Given the description of an element on the screen output the (x, y) to click on. 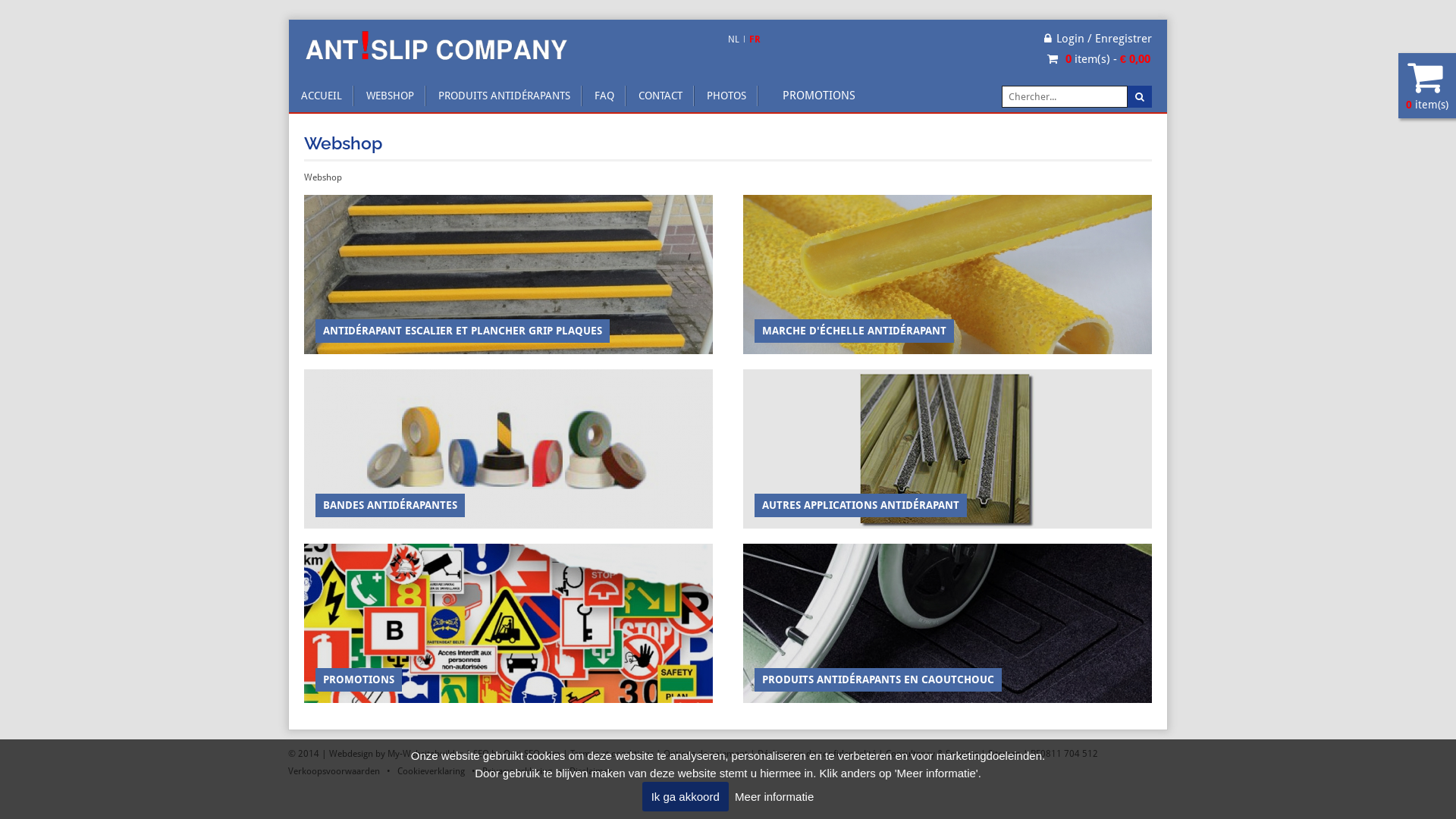
Meer informatie Element type: text (773, 796)
Cookieverklaring Element type: text (430, 770)
PHOTOS Element type: text (726, 95)
Termes et conditions Element type: text (611, 753)
Disclaimer Element type: text (590, 770)
WEBSHOP Element type: text (390, 95)
PROMOTIONS Element type: text (818, 95)
FR Element type: text (754, 40)
Consultancy & Services Element type: text (931, 753)
FAQ Element type: text (604, 95)
Ik ga akkoord Element type: text (685, 796)
Opti-SEO.com Element type: text (531, 753)
Options de paiement Element type: text (705, 753)
ACCUEIL Element type: text (321, 95)
Login / Enregistrer Element type: text (1097, 39)
My-Websitebuilder Element type: text (425, 753)
PROMOTIONS Element type: text (508, 622)
Sitemap Element type: text (1004, 753)
NL Element type: text (733, 40)
Verkoopsvoorwaarden Element type: text (333, 770)
Webshop Element type: text (323, 178)
CONTACT Element type: text (660, 95)
Privacyverklaring Element type: text (517, 770)
